Given the description of an element on the screen output the (x, y) to click on. 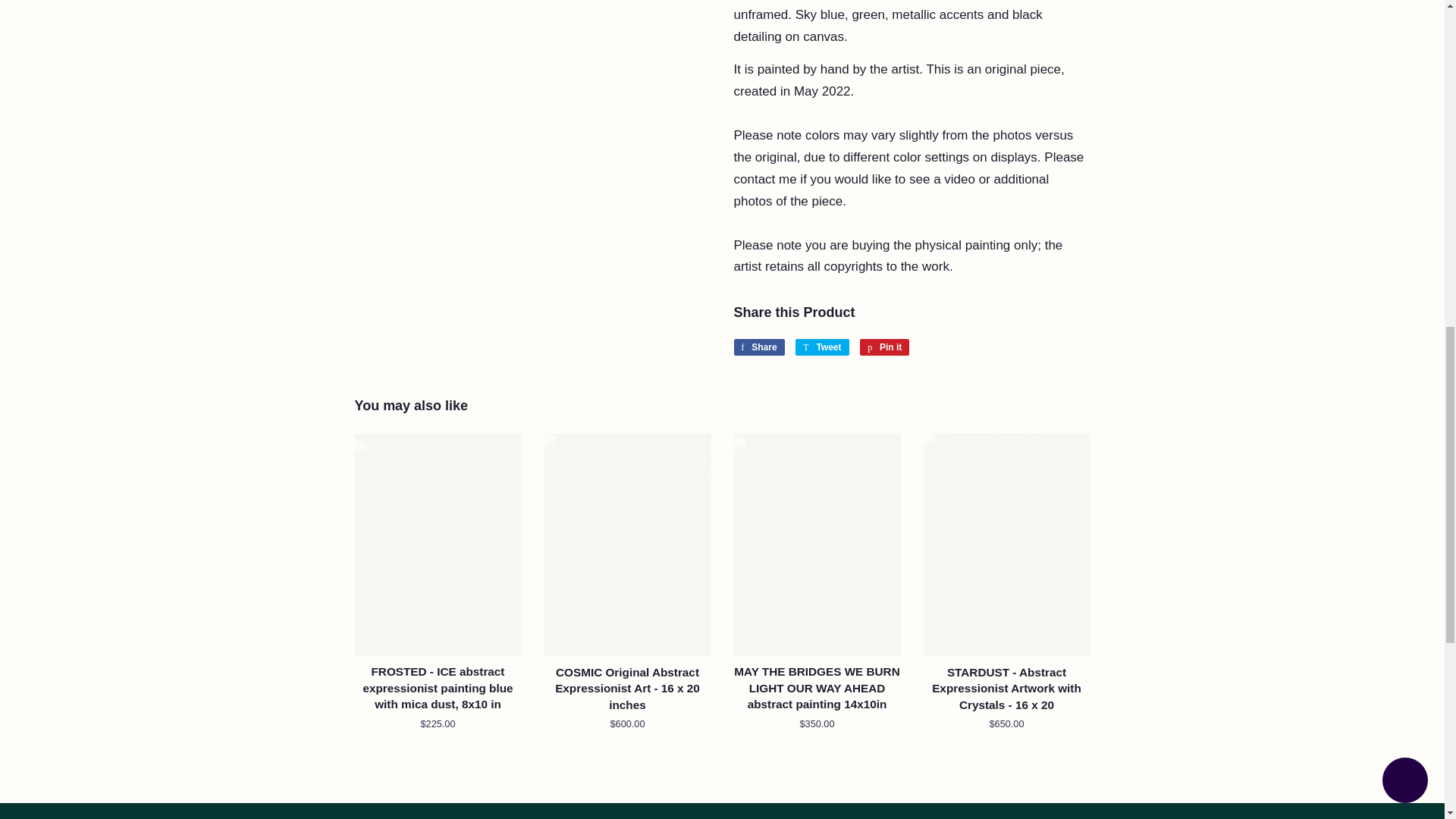
Tweet on Twitter (758, 347)
Share on Facebook (821, 347)
Pin on Pinterest (821, 347)
